Given the description of an element on the screen output the (x, y) to click on. 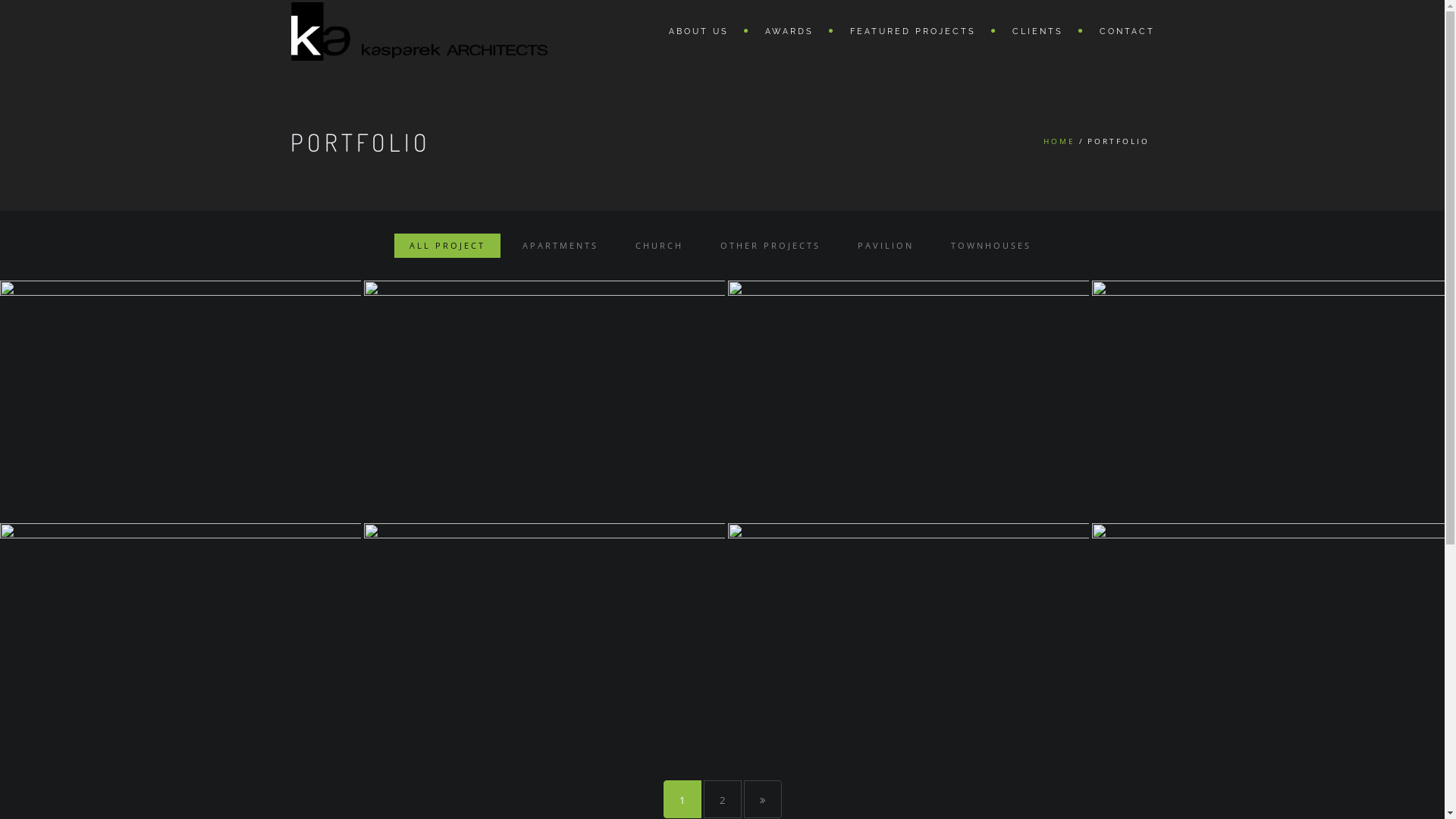
hero-shot Element type: hover (544, 643)
mm1 Element type: hover (1272, 643)
bdh-peacebell-5 Element type: hover (544, 400)
OTHER PROJECTS Element type: text (770, 245)
CONTACT Element type: text (1119, 30)
APARTMENTS Element type: text (560, 245)
TOWNHOUSES Element type: text (990, 245)
apartment-dusk Element type: hover (908, 400)
HOME Element type: text (1059, 140)
dsc02296 Element type: hover (180, 400)
02-torrens-street-left Element type: hover (180, 643)
wp-20151015-002 Element type: hover (1272, 400)
grace-fordejuzz-065 Element type: hover (908, 643)
ALL PROJECT Element type: text (447, 245)
AWARDS Element type: text (791, 30)
2 Element type: text (722, 799)
CLIENTS Element type: text (1039, 30)
ABOUT US Element type: text (701, 30)
CHURCH Element type: text (659, 245)
PAVILION Element type: text (885, 245)
FEATURED PROJECTS Element type: text (915, 30)
